Given the description of an element on the screen output the (x, y) to click on. 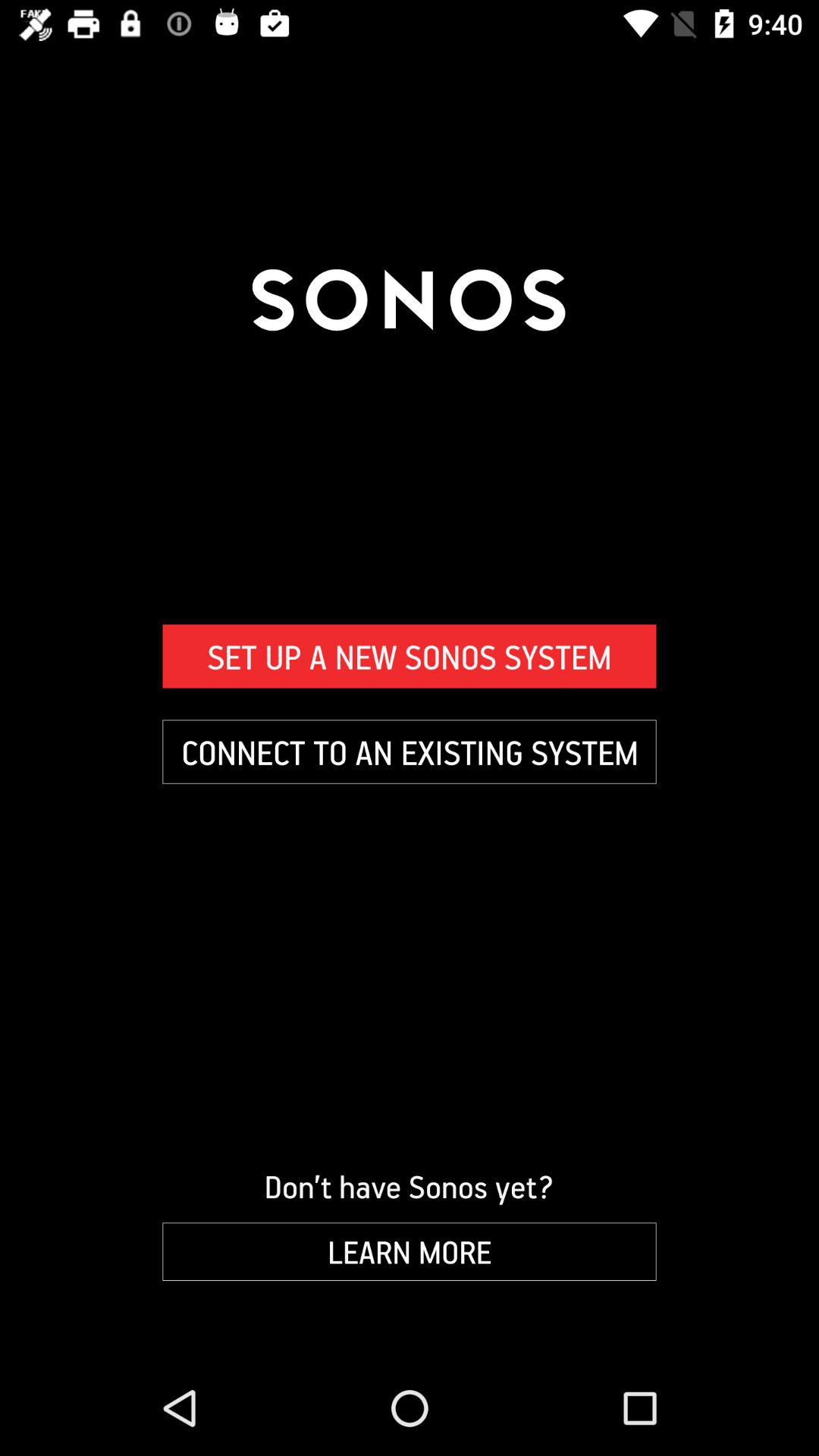
select the learn more (409, 1251)
